Given the description of an element on the screen output the (x, y) to click on. 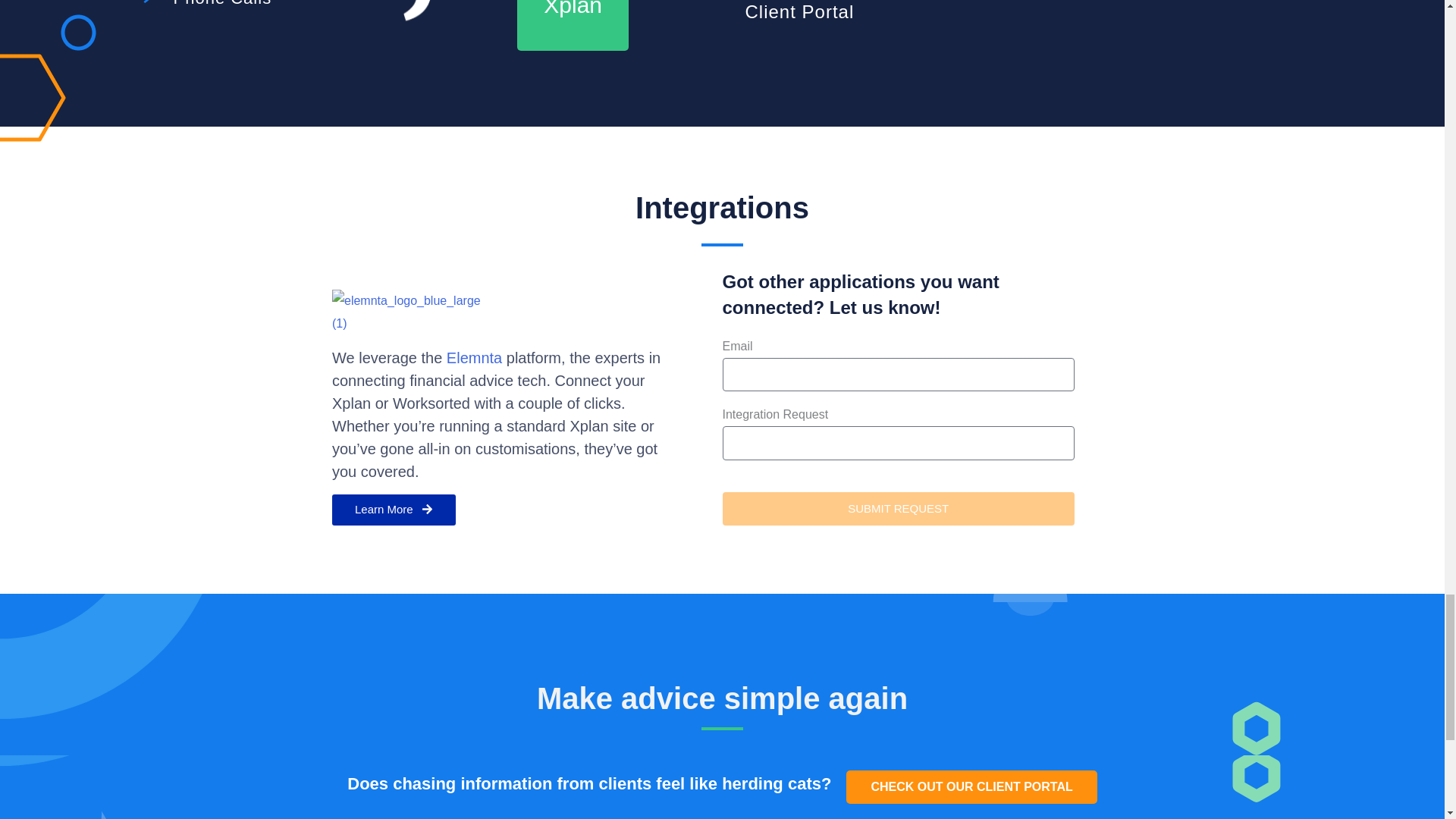
Elemnta (474, 357)
Xplan (572, 25)
Learn More (393, 509)
SUBMIT REQUEST (898, 508)
SUBMIT REQUEST (898, 508)
